Given the description of an element on the screen output the (x, y) to click on. 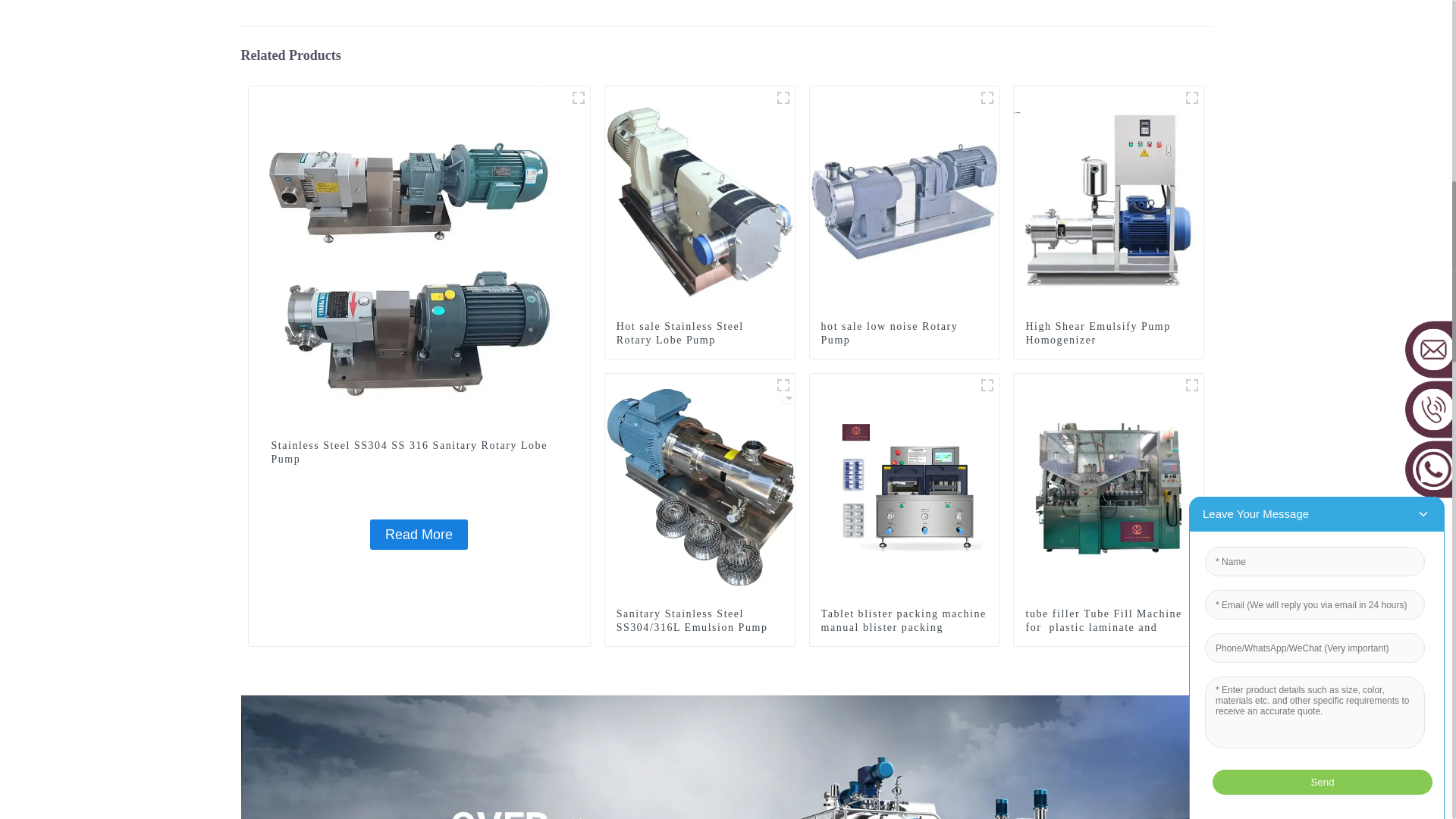
Lobe Pump  (578, 97)
Stainless Steel SS304 SS 316 Sanitary Rotary Lobe Pump (418, 534)
Rotor Pump (986, 97)
High Shear  Emulsify Pump  Homogenizer (1108, 200)
Hot sale Stainless Steel Rotary Lobe Pump (699, 333)
Lobe Rotary Pump (782, 97)
hot sale low noise Rotary Pump  (904, 333)
High Shear  Emulsify Pump  Homogenizer (1108, 333)
hot sale low noise Rotary Pump  (903, 200)
Inline Homogenizer (1192, 97)
Hot sale Stainless Steel Rotary Lobe Pump (699, 200)
Stainless Steel SS304 SS 316 Sanitary Rotary Lobe Pump (418, 256)
Emulsion Pumps (782, 384)
Stainless Steel SS304 SS 316 Sanitary Rotary Lobe Pump (418, 452)
